Given the description of an element on the screen output the (x, y) to click on. 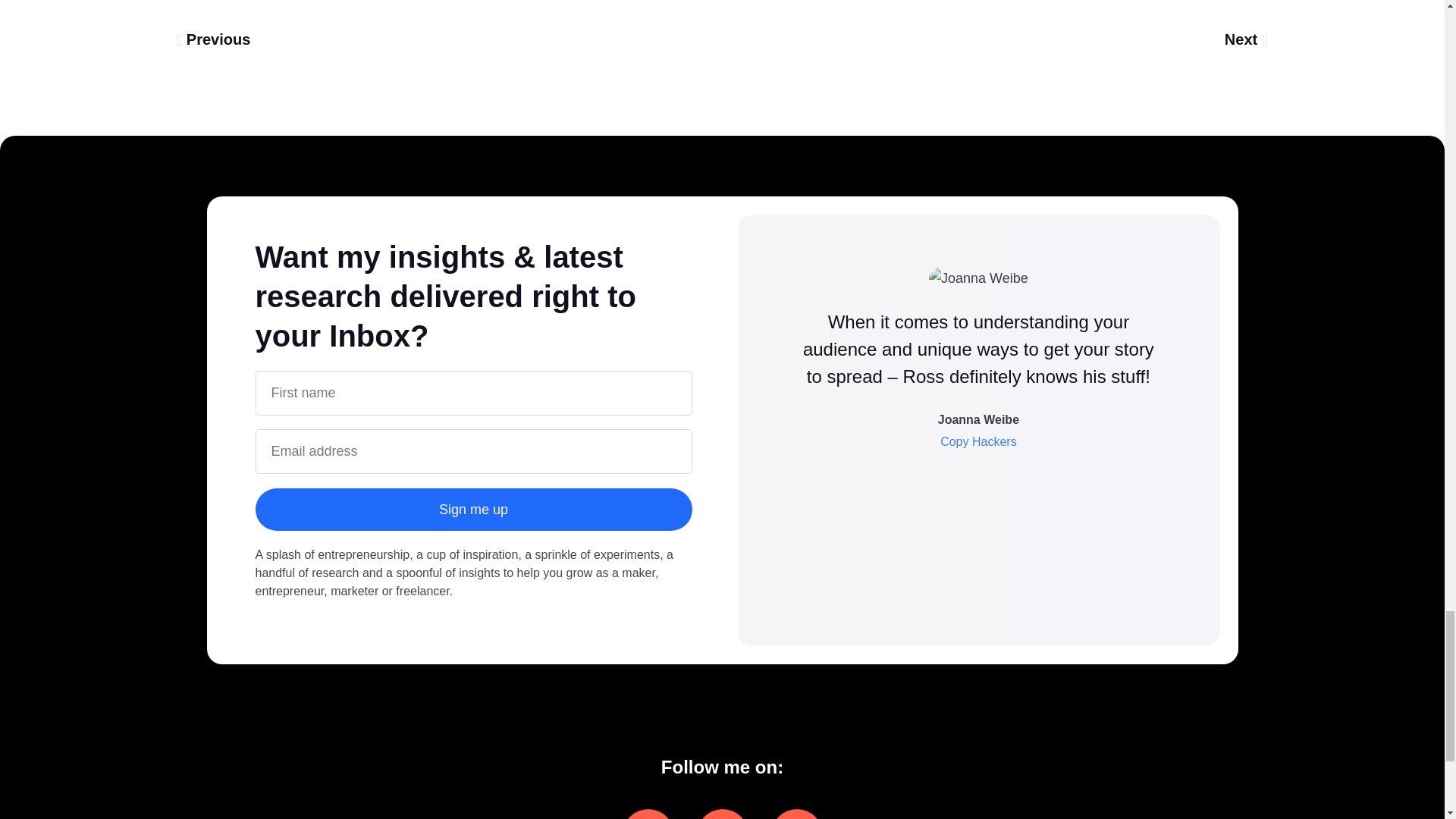
Sign me up (472, 509)
Next (995, 39)
Previous (449, 39)
